Given the description of an element on the screen output the (x, y) to click on. 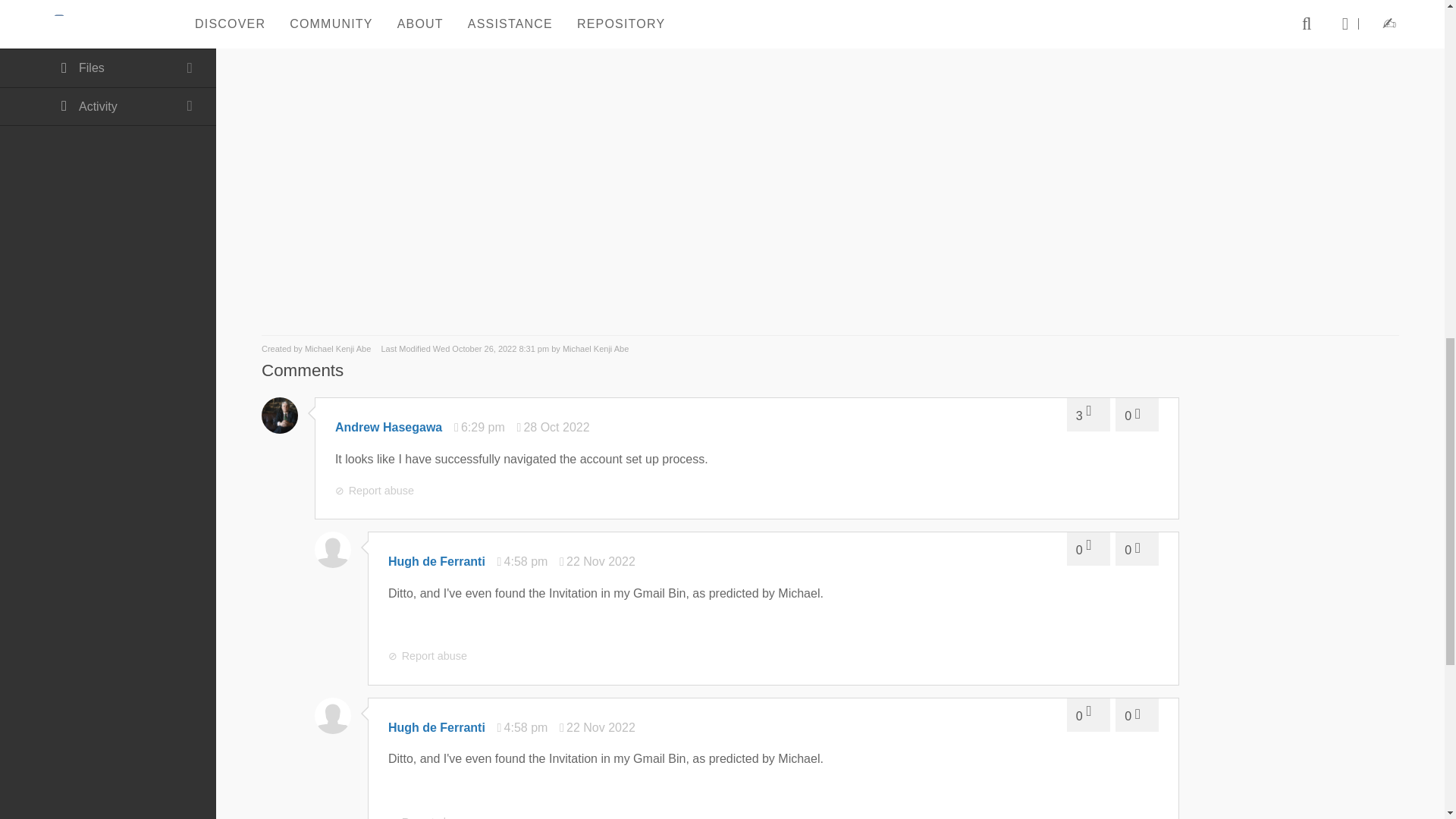
Created by Wed October 26, 2022 (317, 347)
 Please login to vote. (1088, 414)
This page is restricted to group members only! (107, 30)
This page is restricted to group members only! (107, 106)
This page is restricted to group members only! (107, 68)
This page is restricted to group members only! (107, 5)
 Please login to vote. (1136, 414)
